Given the description of an element on the screen output the (x, y) to click on. 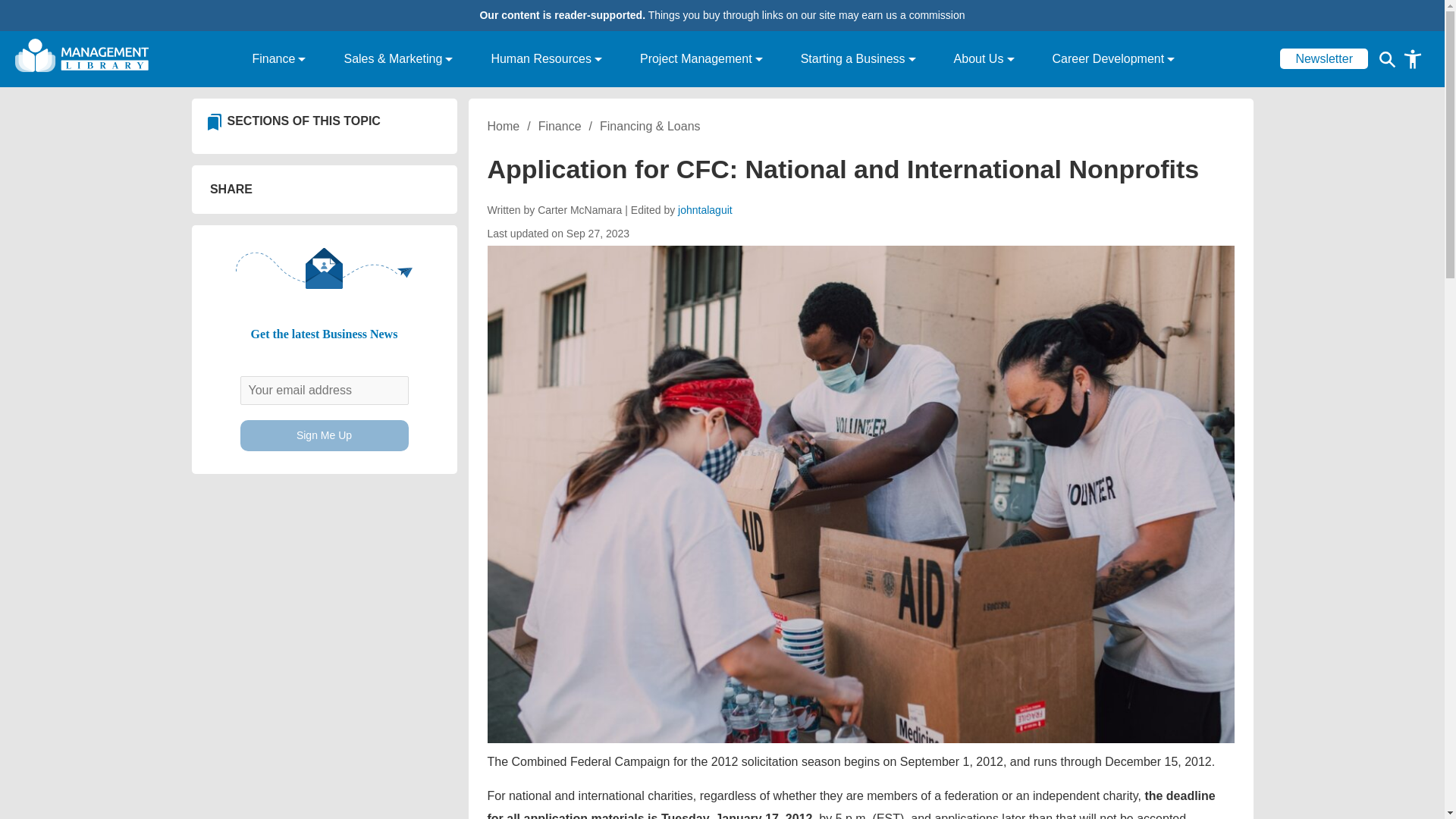
Starting a Business (858, 58)
Finance (277, 58)
Human Resources (545, 58)
Project Management (701, 58)
